Given the description of an element on the screen output the (x, y) to click on. 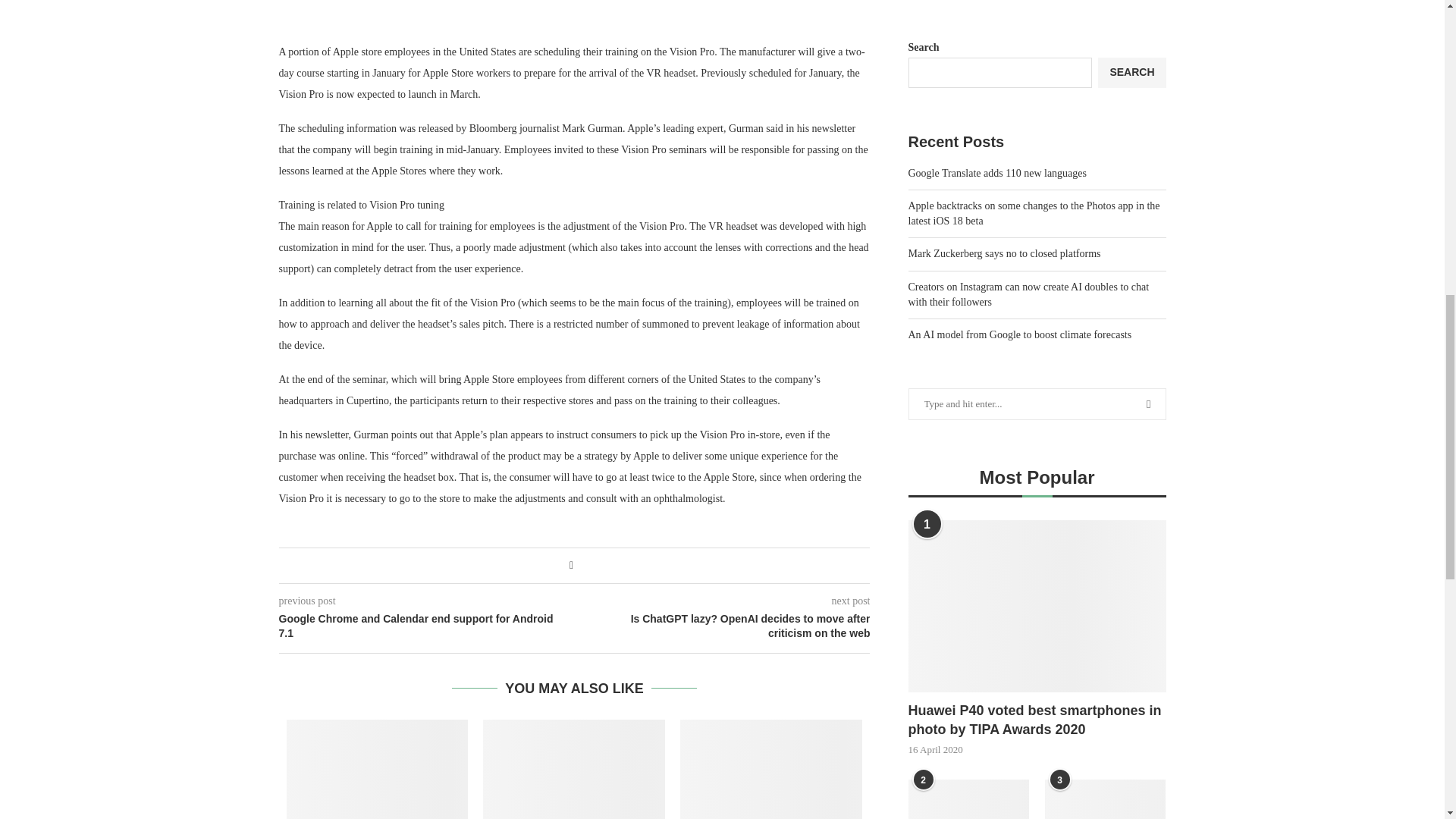
Mark Zuckerberg says no to closed platforms (770, 769)
6 (722, 5)
Google Chrome and Calendar end support for Android 7.1 (427, 626)
Google Translate adds 110 new languages (377, 769)
